Given the description of an element on the screen output the (x, y) to click on. 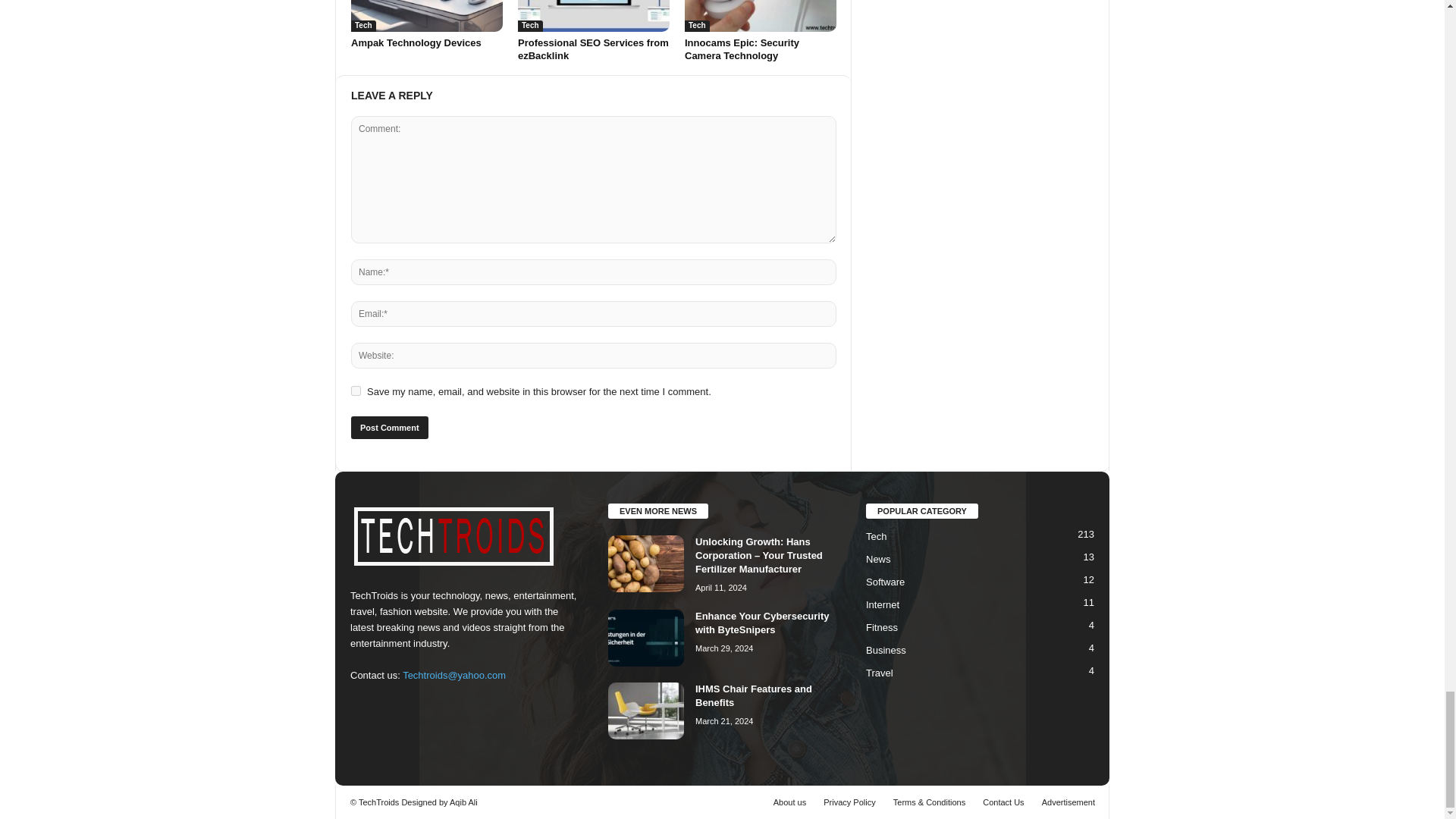
yes (355, 390)
Post Comment (389, 427)
